Given the description of an element on the screen output the (x, y) to click on. 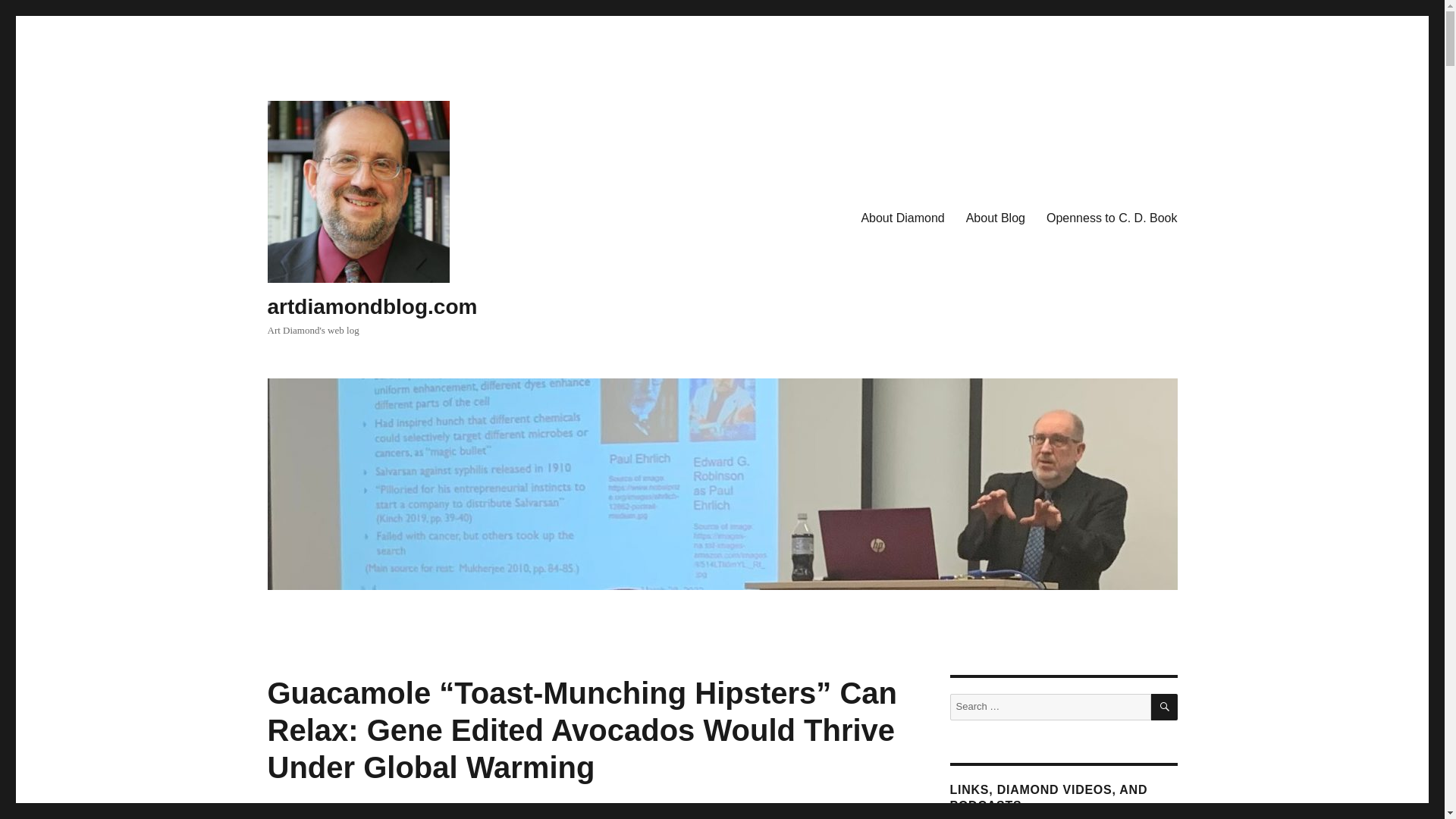
Openness to C. D. Book (1111, 218)
About Diamond (902, 218)
About Blog (995, 218)
artdiamondblog.com (371, 306)
SEARCH (1164, 706)
